Given the description of an element on the screen output the (x, y) to click on. 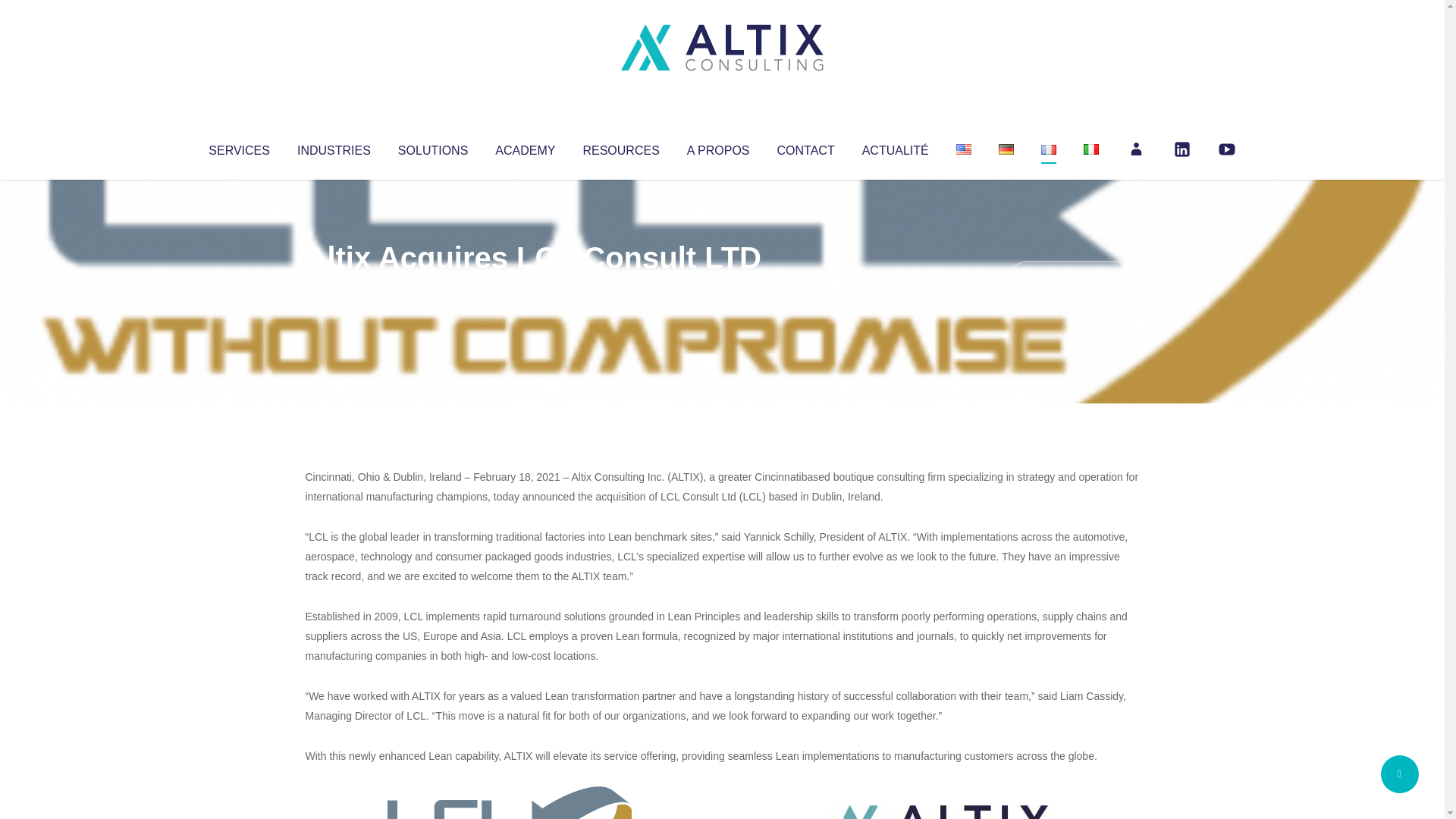
SOLUTIONS (432, 146)
ACADEMY (524, 146)
INDUSTRIES (334, 146)
A PROPOS (718, 146)
Uncategorized (530, 287)
RESOURCES (620, 146)
Articles par Altix (333, 287)
No Comments (1073, 278)
Altix (333, 287)
SERVICES (238, 146)
